Given the description of an element on the screen output the (x, y) to click on. 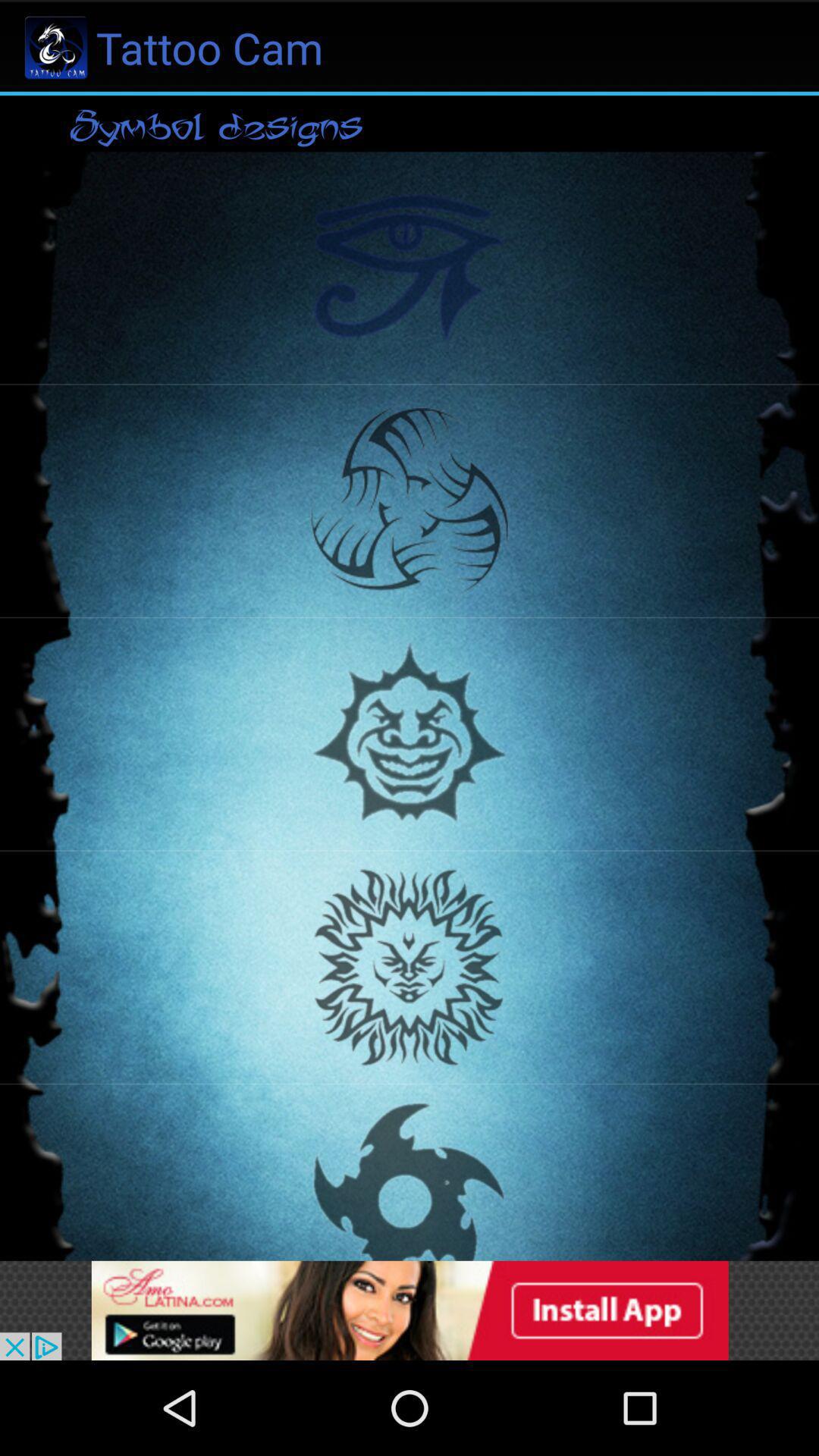
advertisement to install app (409, 1310)
